Given the description of an element on the screen output the (x, y) to click on. 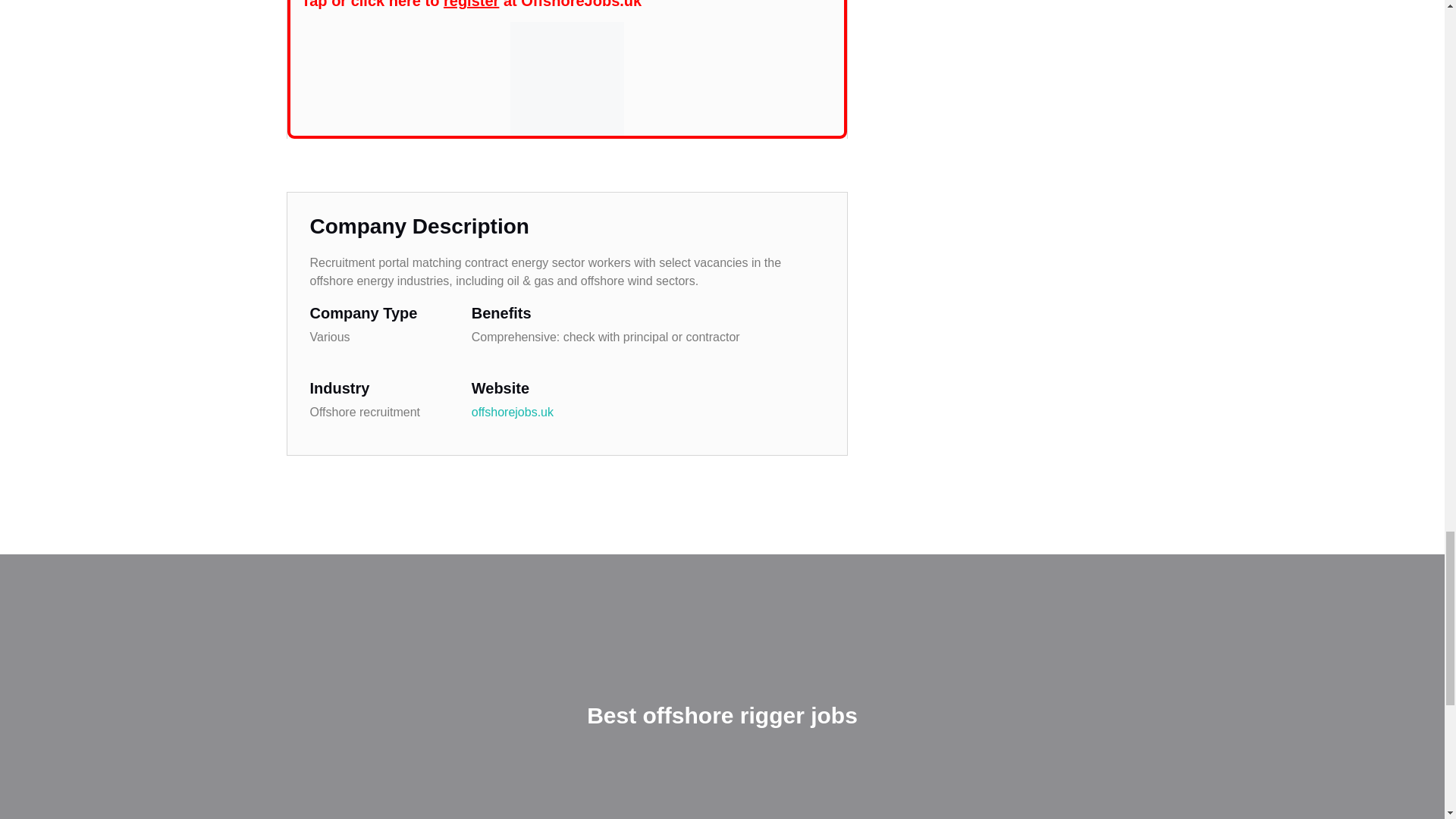
Tap or click here to register at OffshoreJobs.uk (471, 4)
offshorejobs.uk (512, 411)
